Given the description of an element on the screen output the (x, y) to click on. 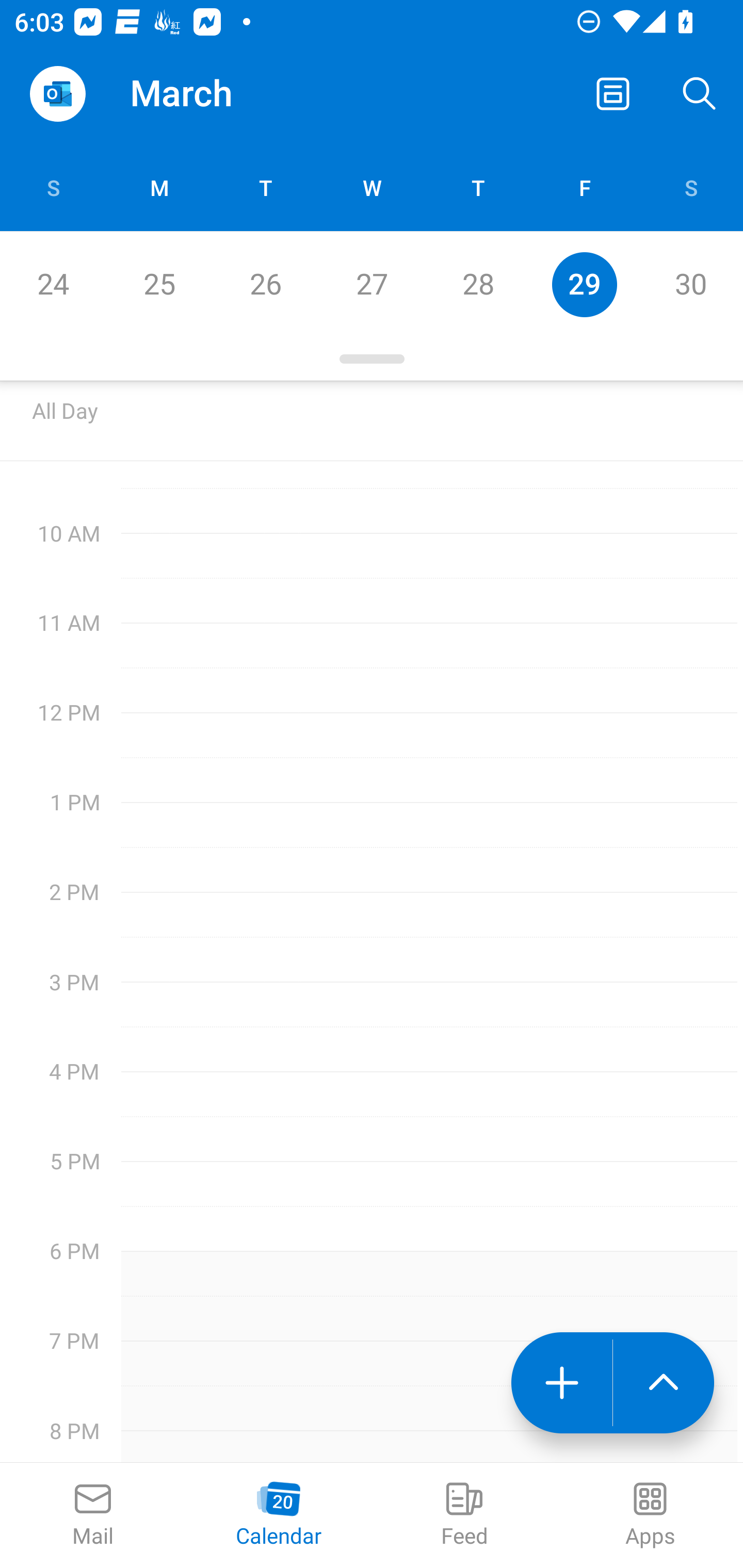
March March 2024, day picker (209, 93)
Switch away from Day view (612, 93)
Search, ,  (699, 93)
Open Navigation Drawer (57, 94)
24 Sunday, March 24 (53, 284)
25 Monday, March 25 (159, 284)
26 Tuesday, March 26 (265, 284)
27 Wednesday, March 27 (371, 284)
28 Thursday, March 28 (477, 284)
29 Friday, March 29, Selected (584, 284)
30 Saturday, March 30 (690, 284)
Day picker (371, 359)
New event (561, 1382)
launch the extended action menu (663, 1382)
Mail (92, 1515)
Feed (464, 1515)
Apps (650, 1515)
